Given the description of an element on the screen output the (x, y) to click on. 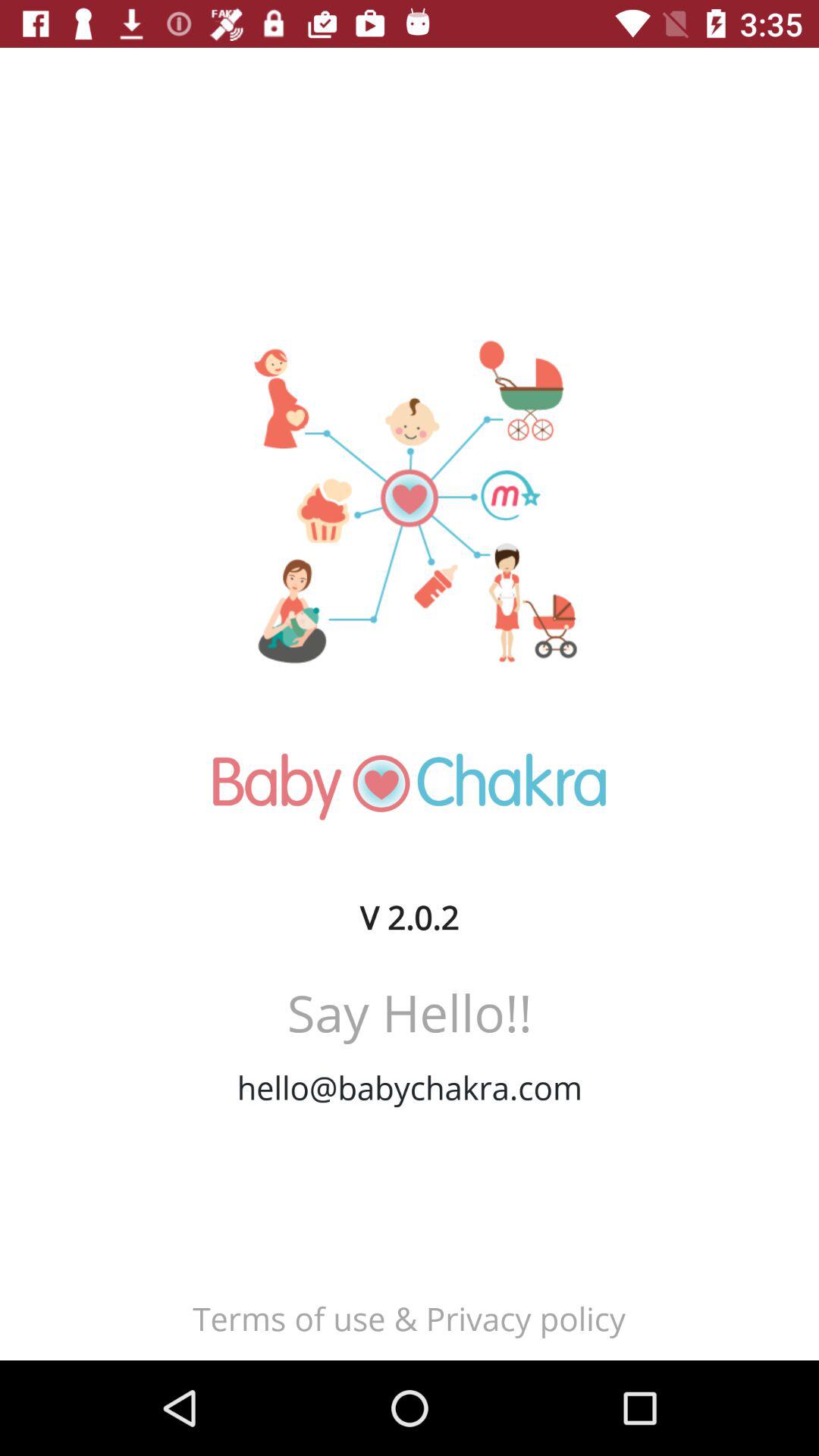
press the icon below the hello@babychakra.com (408, 1318)
